Given the description of an element on the screen output the (x, y) to click on. 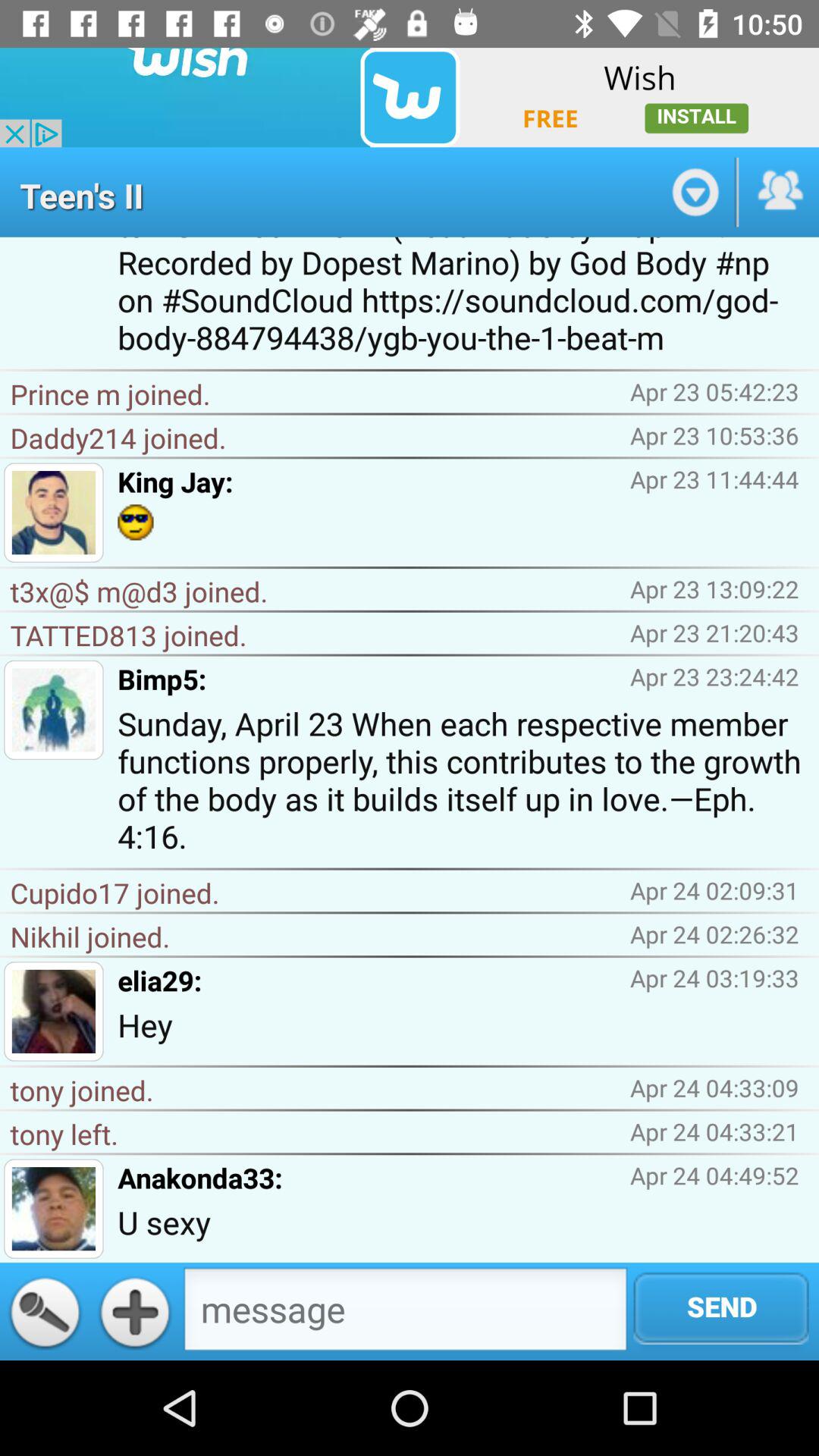
microphone (44, 1311)
